Given the description of an element on the screen output the (x, y) to click on. 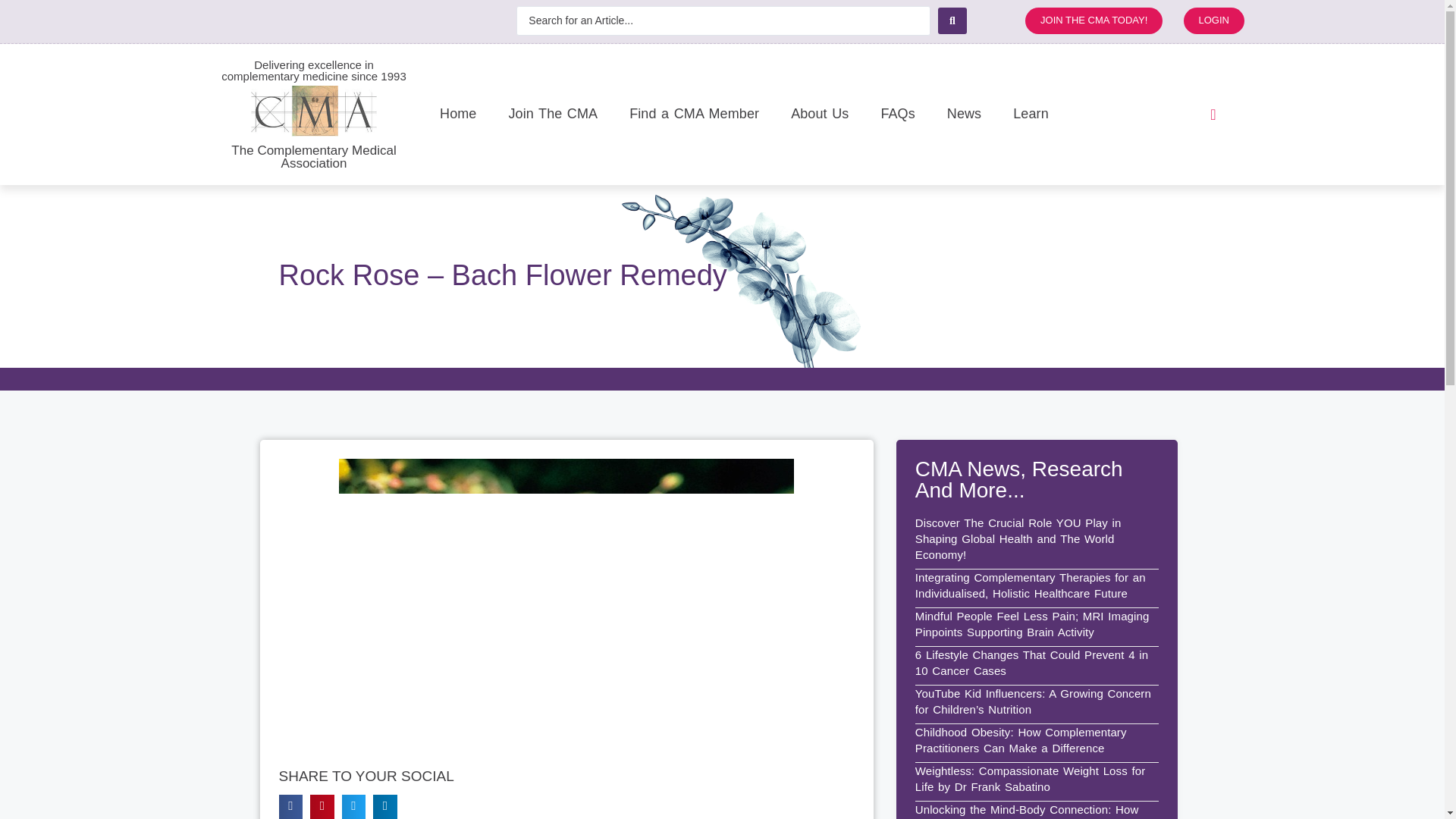
JOIN THE CMA TODAY! (1093, 20)
News (963, 113)
LOGIN (1213, 20)
Home (457, 113)
Find a CMA Member (693, 113)
FAQs (897, 113)
Join The CMA (552, 113)
About Us (819, 113)
Learn (1030, 113)
